Given the description of an element on the screen output the (x, y) to click on. 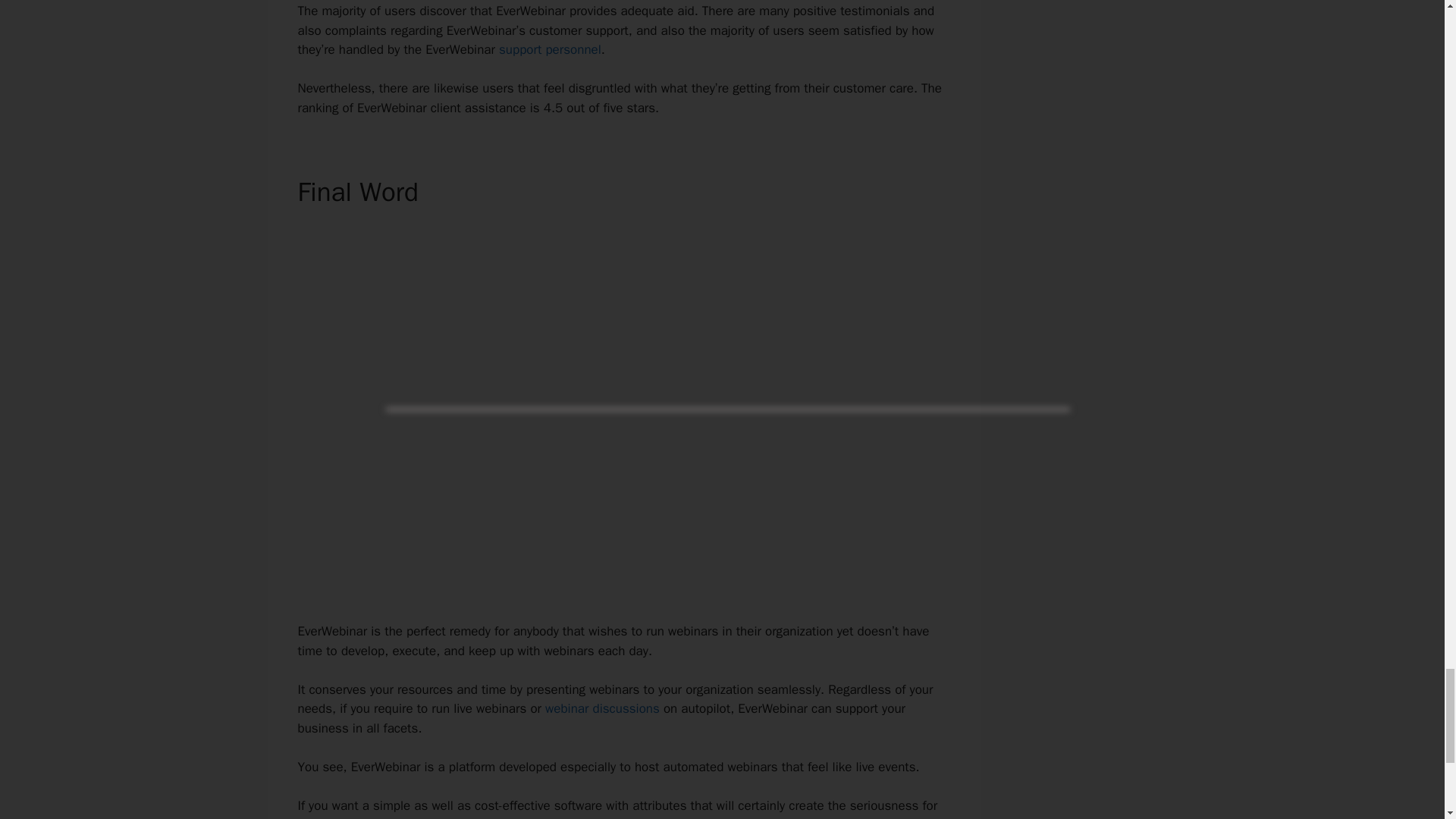
support personnel (550, 49)
webinar discussions (601, 708)
